Given the description of an element on the screen output the (x, y) to click on. 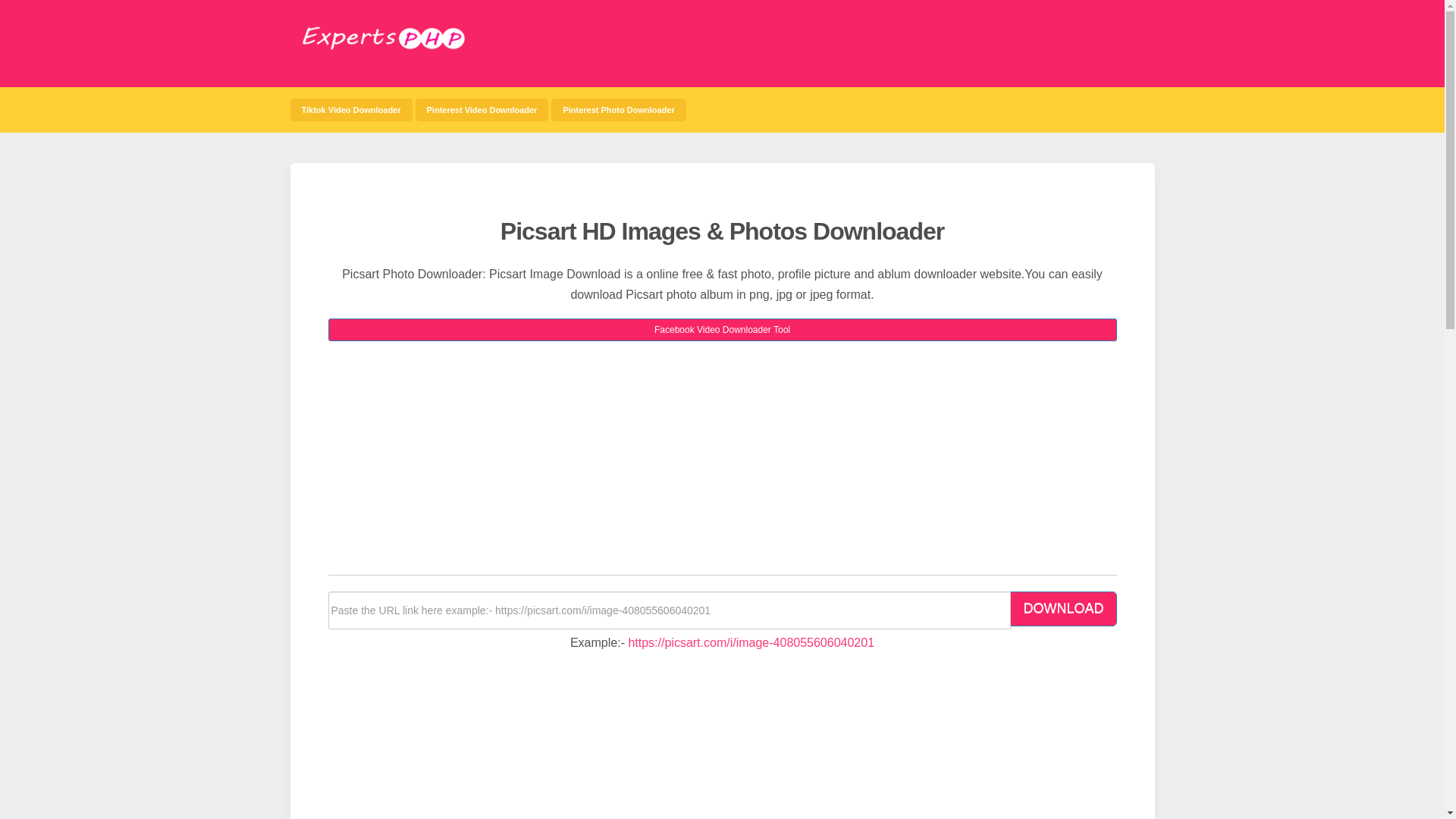
Facebook Video Downloader Tool (721, 329)
Tiktok Video Downloader (350, 109)
Pinterest Photo Downloader (618, 109)
Linkedin Video Downloader (618, 109)
Pinterest Video Downloader (481, 109)
Facebook Video Downloader (481, 109)
Tiktok Video Downloader (350, 109)
DOWNLOAD (1063, 608)
